Given the description of an element on the screen output the (x, y) to click on. 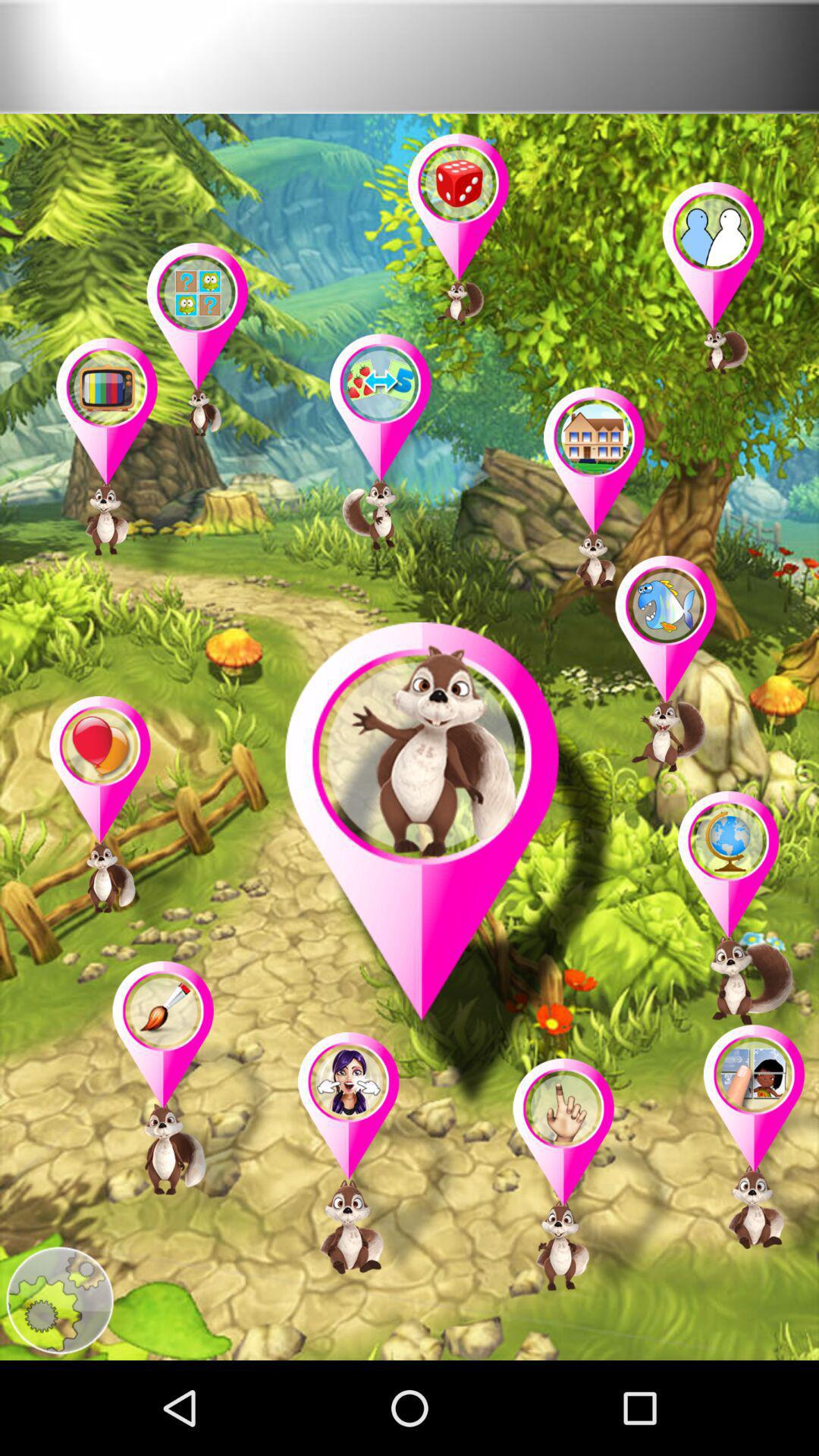
activate 'james squirrel vocal (451, 870)
